Given the description of an element on the screen output the (x, y) to click on. 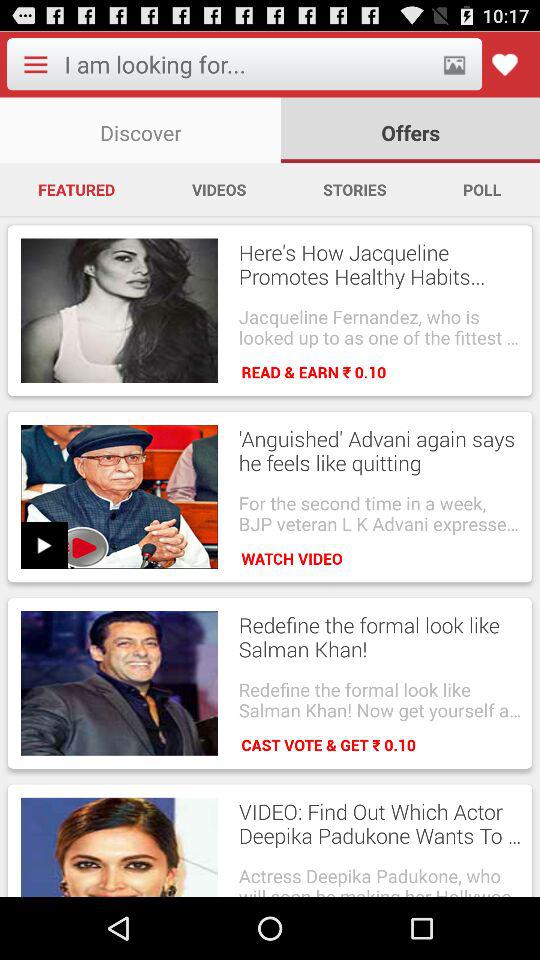
input search text (246, 64)
